Given the description of an element on the screen output the (x, y) to click on. 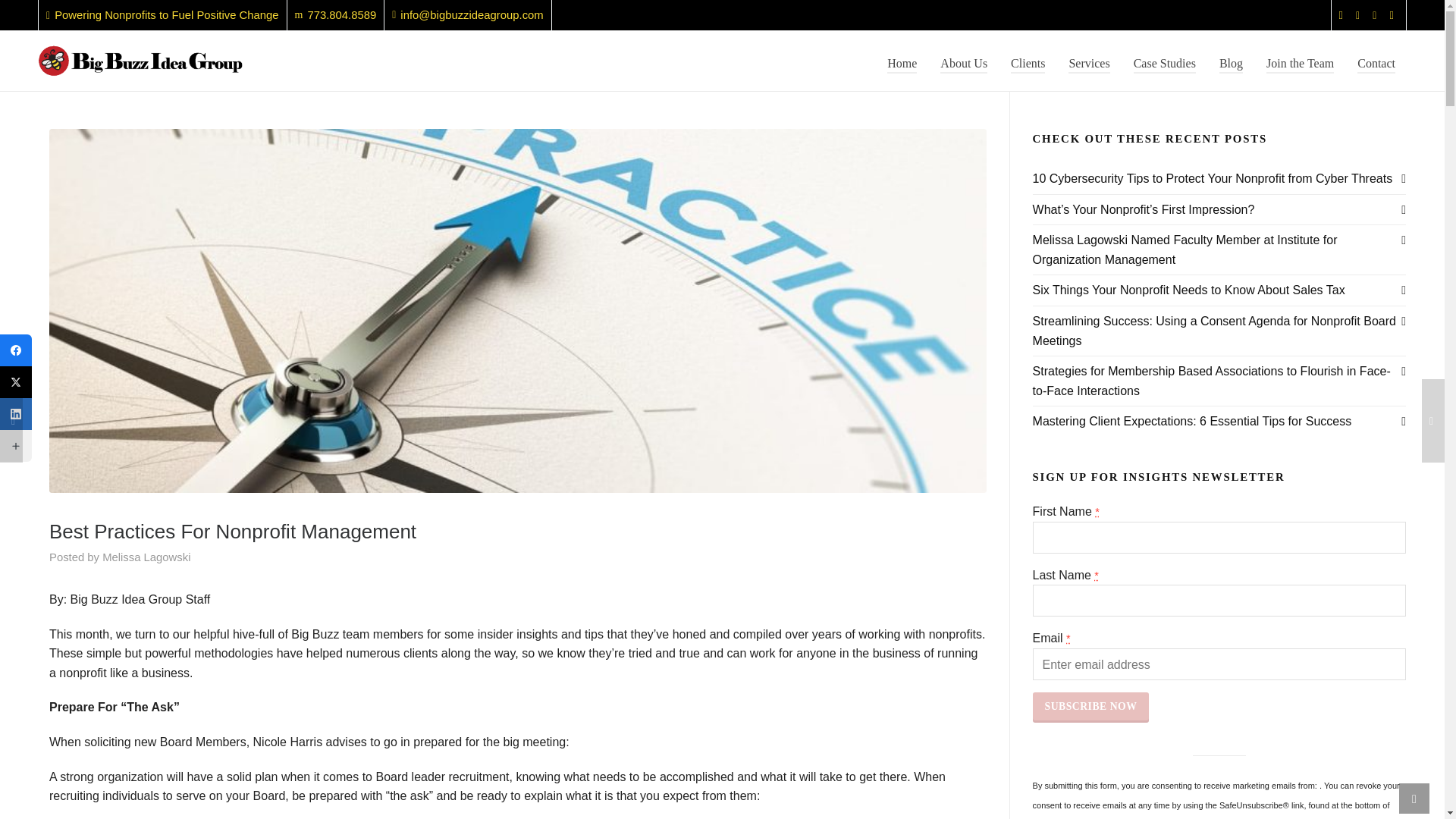
Services (1089, 61)
773.804.8589 (336, 15)
Contact (1375, 61)
Melissa Lagowski (145, 557)
Subscribe Now (1091, 706)
Case Studies (1164, 61)
Clients (145, 557)
Join the Team (1027, 61)
About Us (1300, 61)
